Given the description of an element on the screen output the (x, y) to click on. 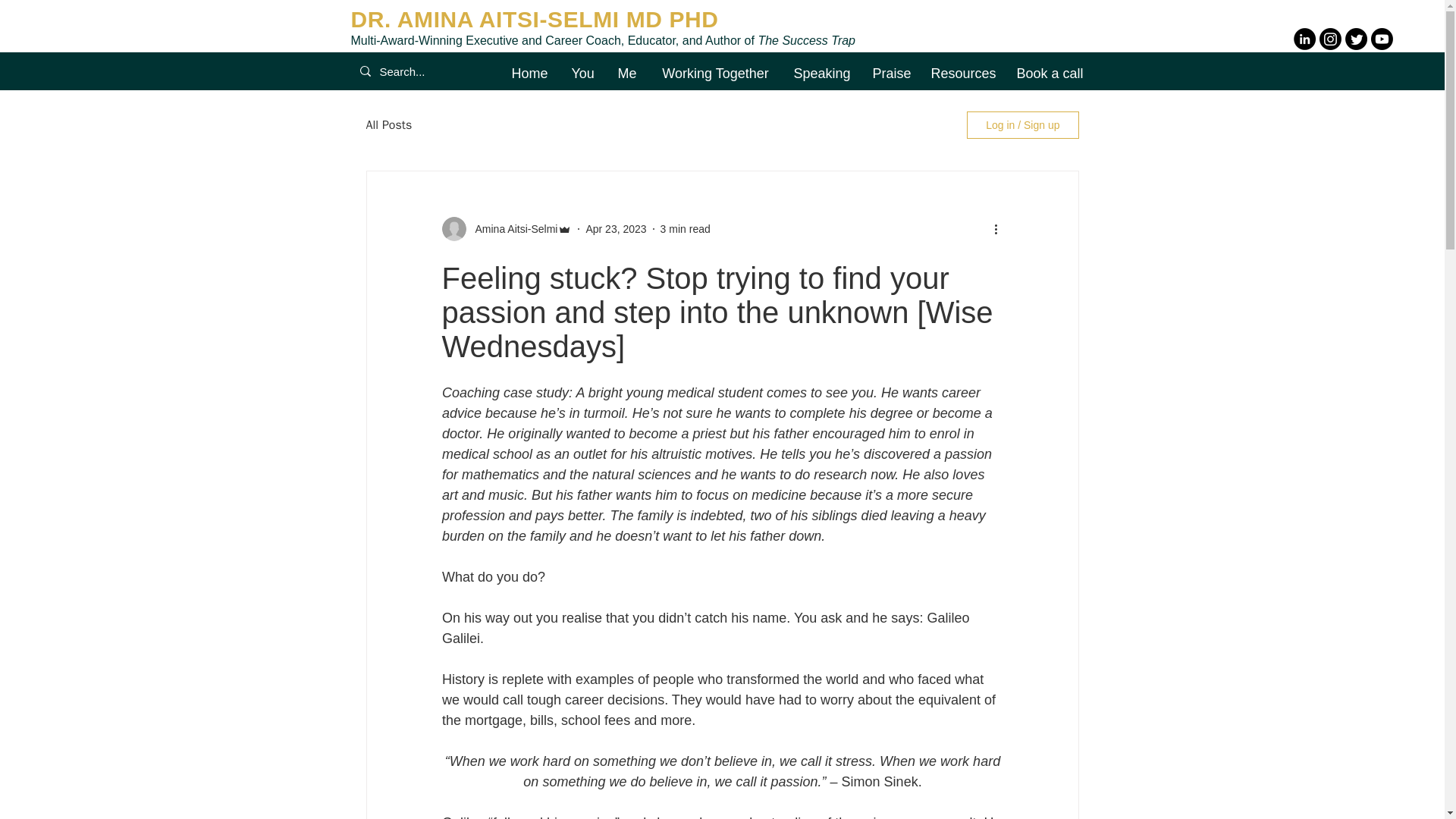
Amina Aitsi-Selmi (511, 229)
Book a call (1050, 73)
You (582, 73)
Speaking (822, 73)
Apr 23, 2023 (615, 228)
All Posts (388, 125)
DR. AMINA AITSI-SELMI MD PHD (533, 18)
Me (626, 73)
Home (529, 73)
3 min read (685, 228)
Praise (890, 73)
Working Together (716, 73)
